Given the description of an element on the screen output the (x, y) to click on. 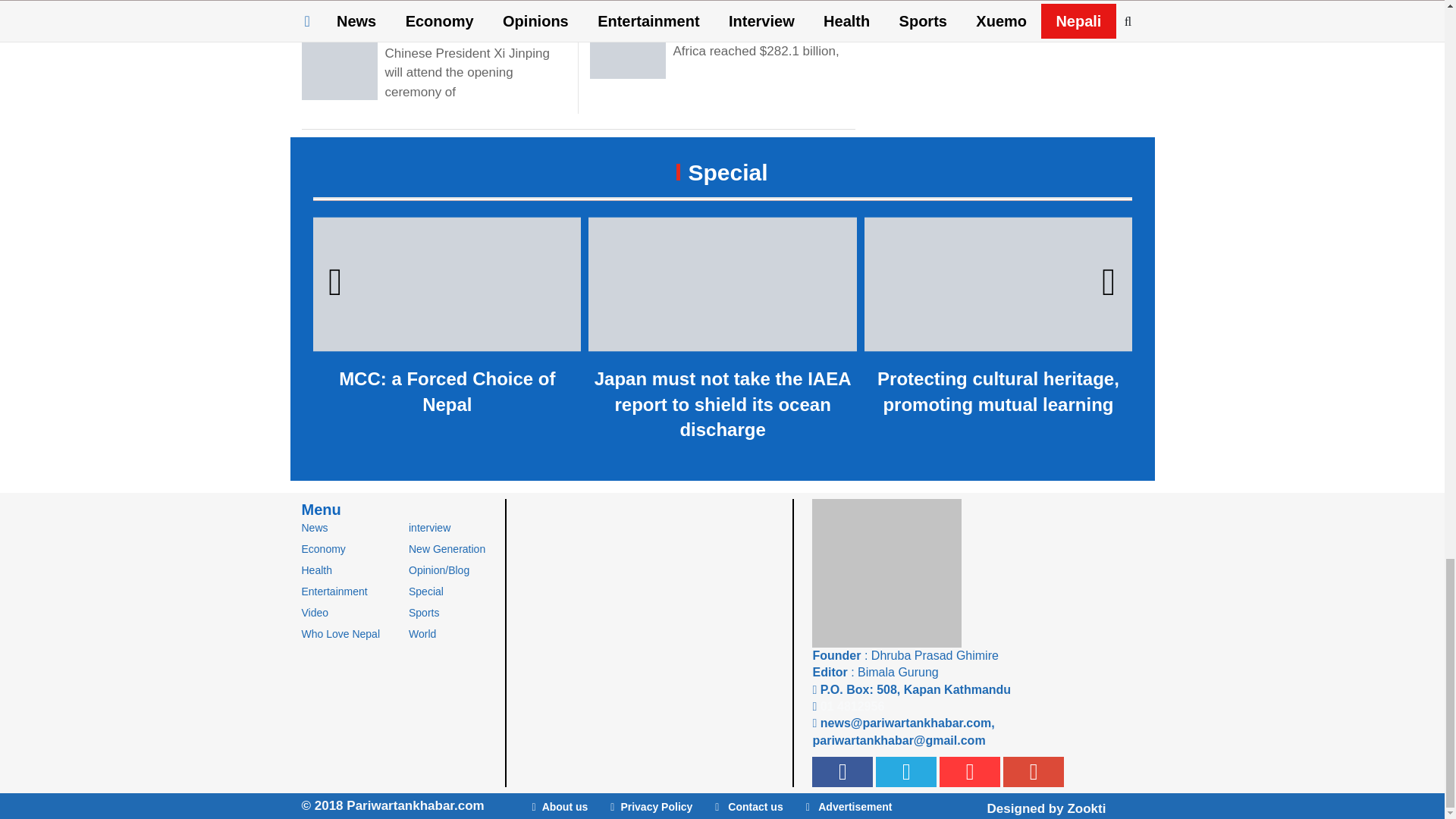
Special (722, 172)
Protecting cultural heritage, promoting mutual learning (998, 318)
MCC: a Forced Choice of Nepal (446, 318)
